Given the description of an element on the screen output the (x, y) to click on. 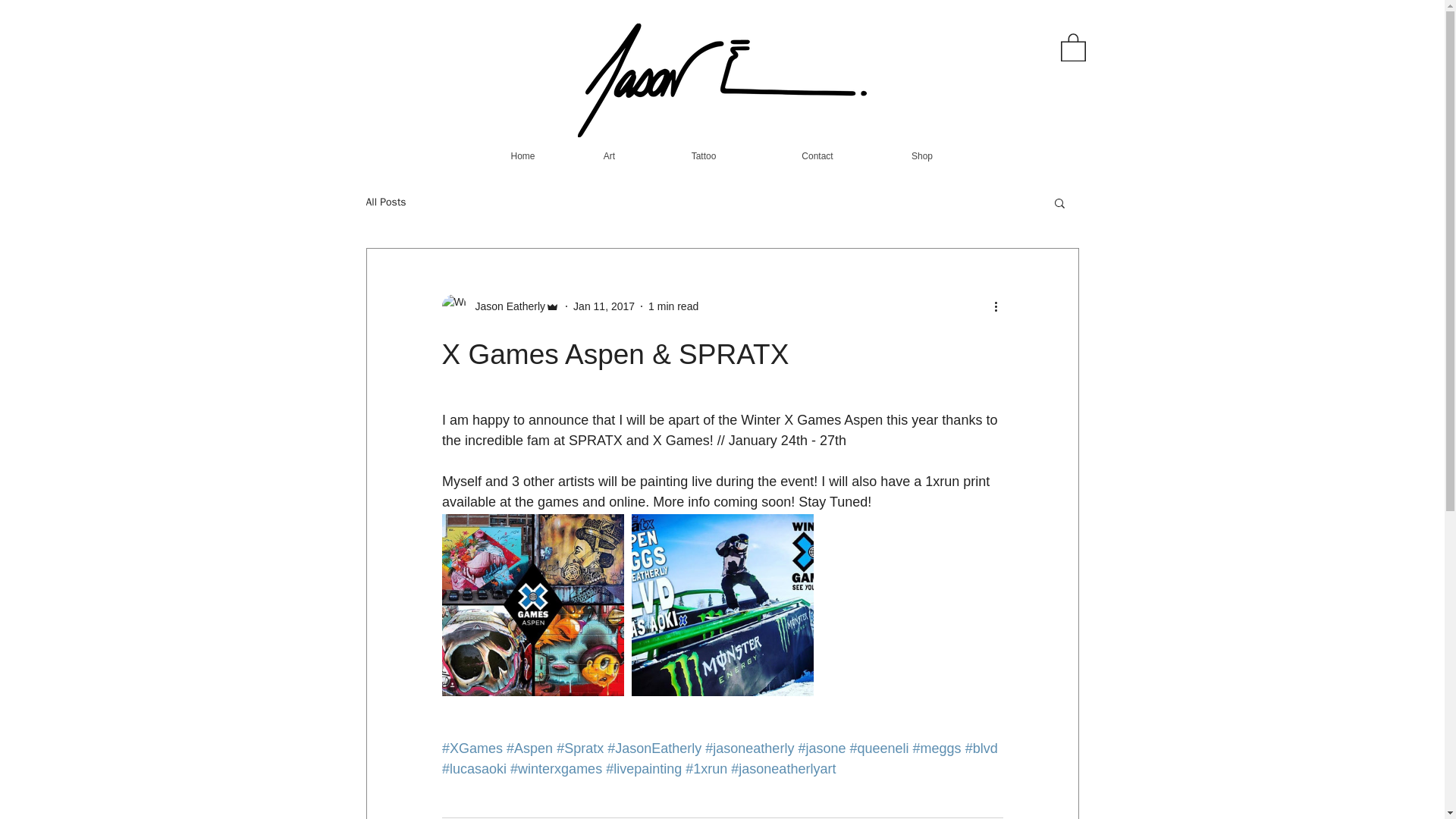
Jason Eatherly (504, 306)
Contact (817, 149)
1 min read (672, 306)
Jan 11, 2017 (603, 306)
Home (522, 149)
All Posts (385, 202)
Tattoo (703, 149)
Shop (921, 149)
